Given the description of an element on the screen output the (x, y) to click on. 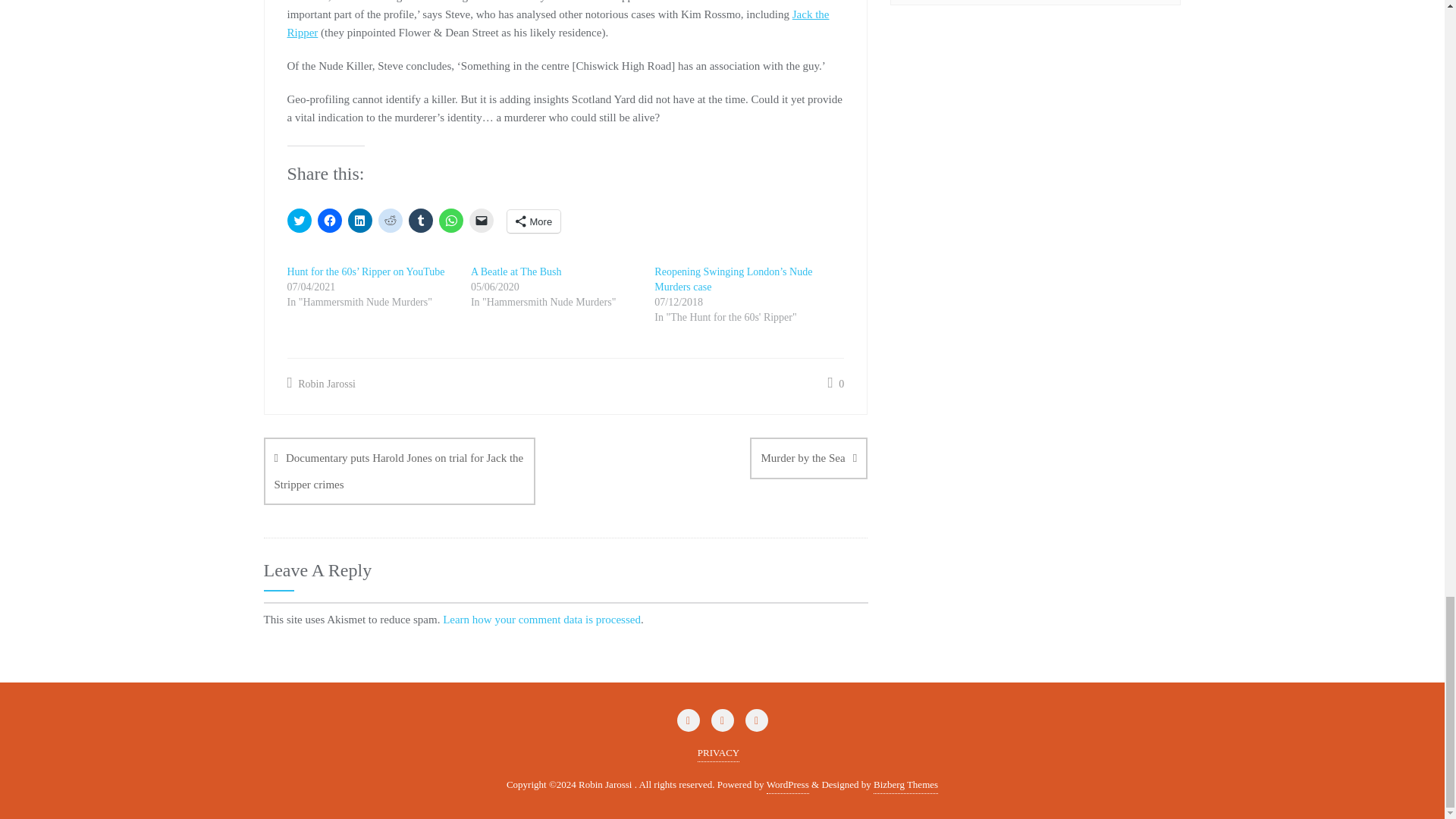
Click to share on Facebook (328, 220)
Click to email a link to a friend (480, 220)
Click to share on LinkedIn (359, 220)
Click to share on Reddit (389, 220)
A Beatle at The Bush (516, 271)
Click to share on WhatsApp (450, 220)
More (533, 220)
Click to share on Twitter (298, 220)
Jack the Ripper (557, 23)
Click to share on Tumblr (419, 220)
